Given the description of an element on the screen output the (x, y) to click on. 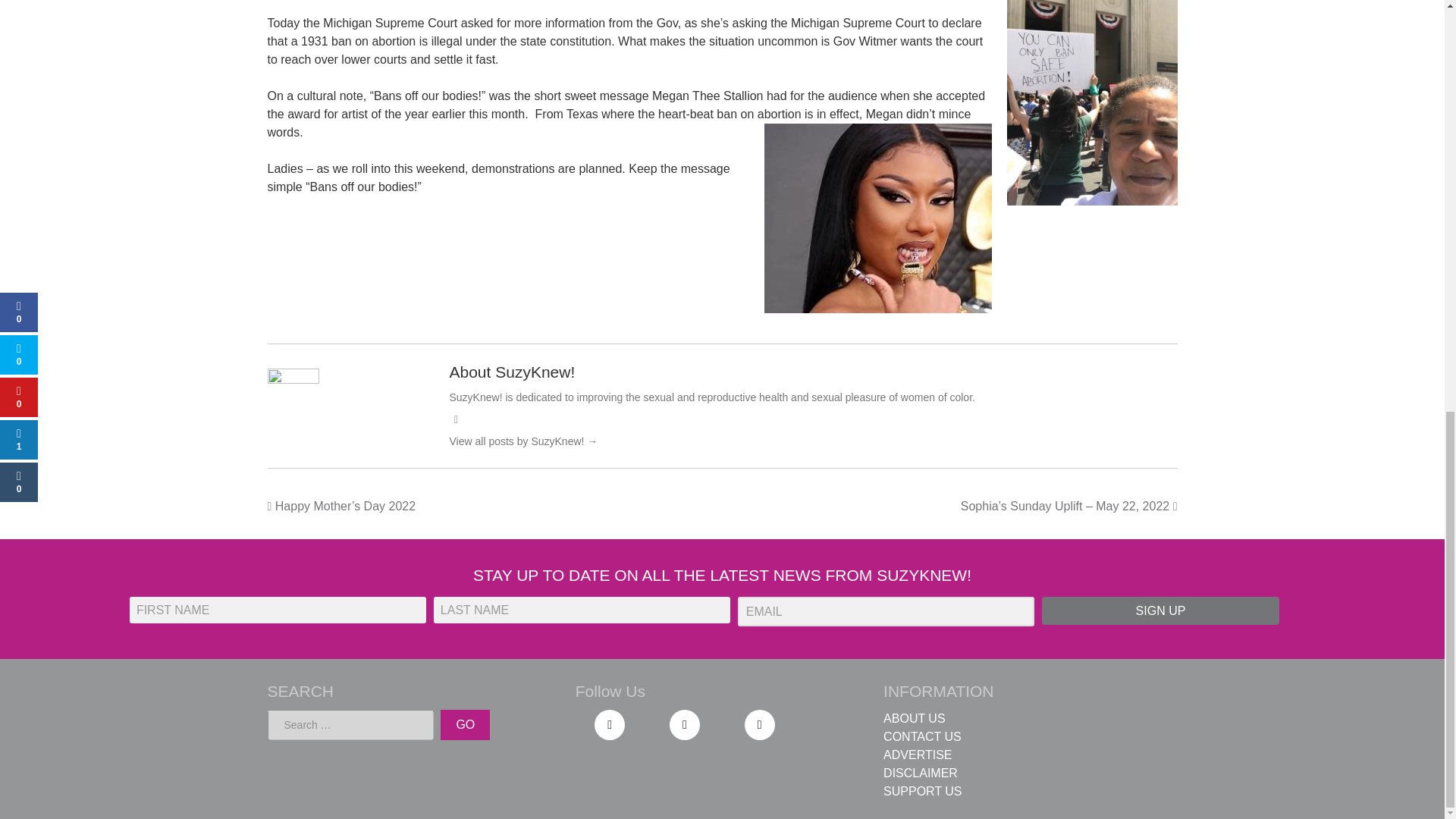
CONTACT US (921, 736)
ADVERTISE (917, 754)
GO (465, 725)
DISCLAIMER (920, 772)
Website (455, 419)
SIGN UP (1160, 610)
GO (465, 725)
GO (465, 725)
ABOUT US (913, 717)
